Given the description of an element on the screen output the (x, y) to click on. 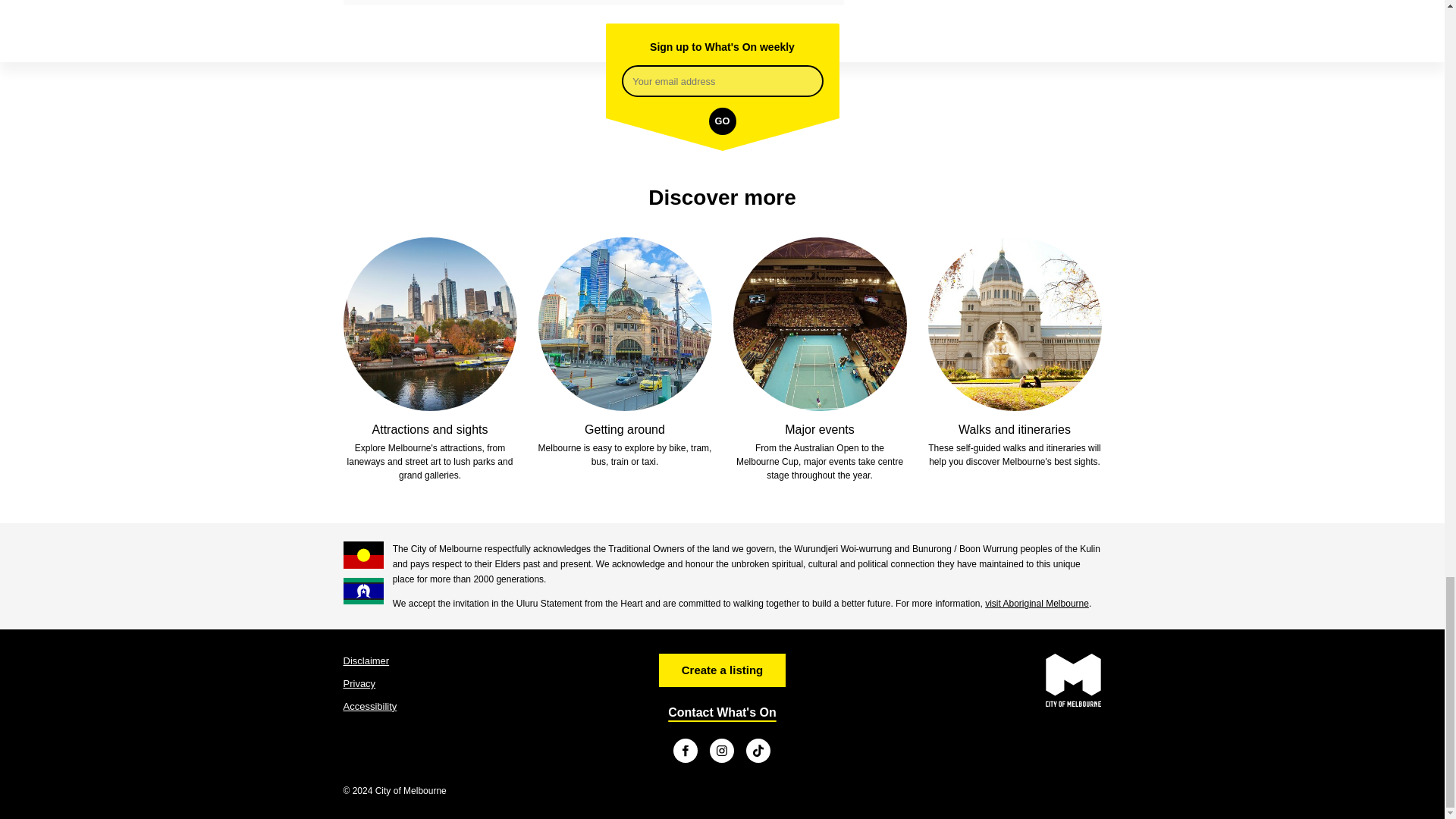
GO (721, 121)
Contact What's On (722, 712)
Create a listing (722, 670)
visit Aboriginal Melbourne (1037, 603)
